Given the description of an element on the screen output the (x, y) to click on. 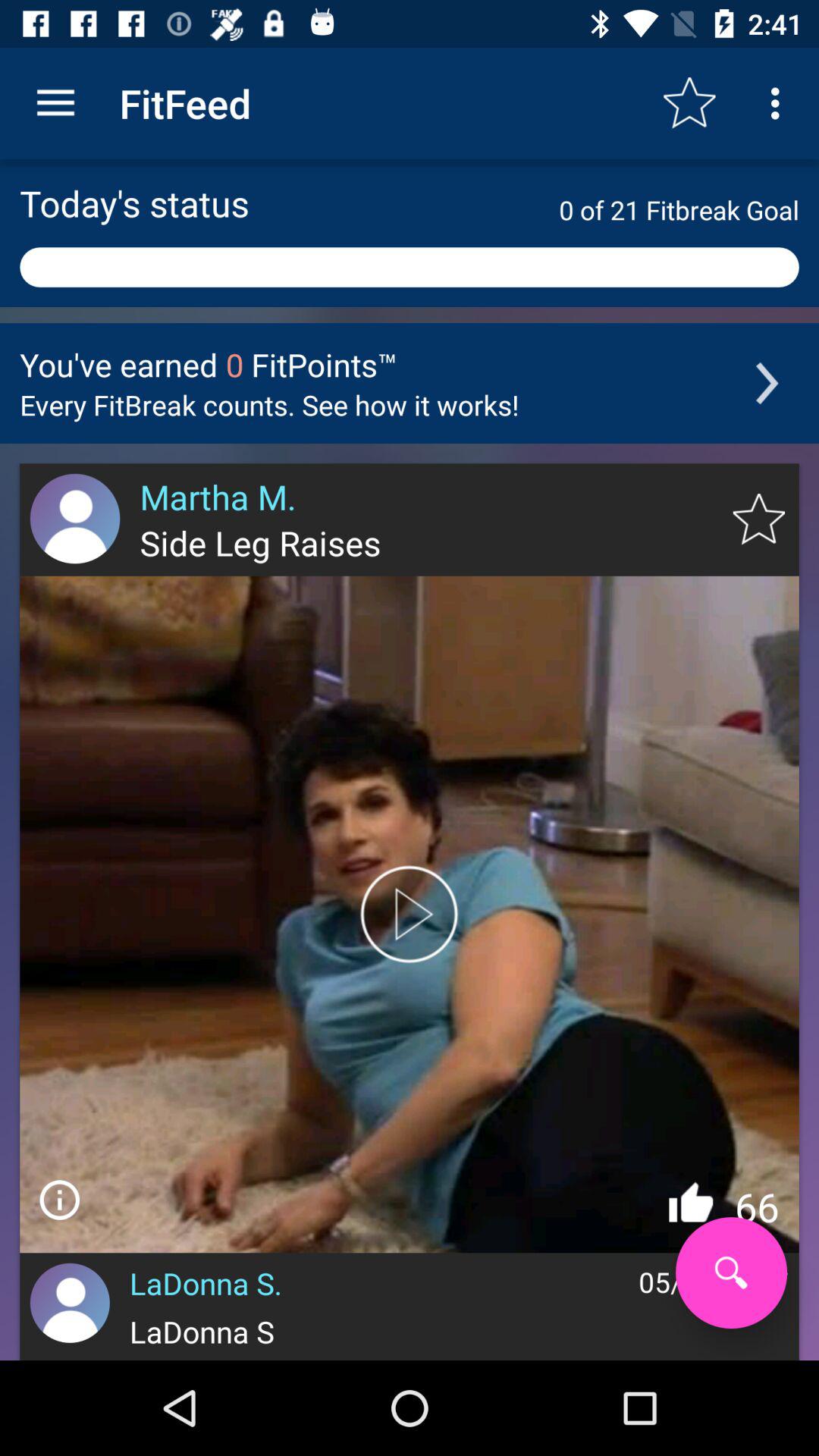
color print (409, 914)
